Given the description of an element on the screen output the (x, y) to click on. 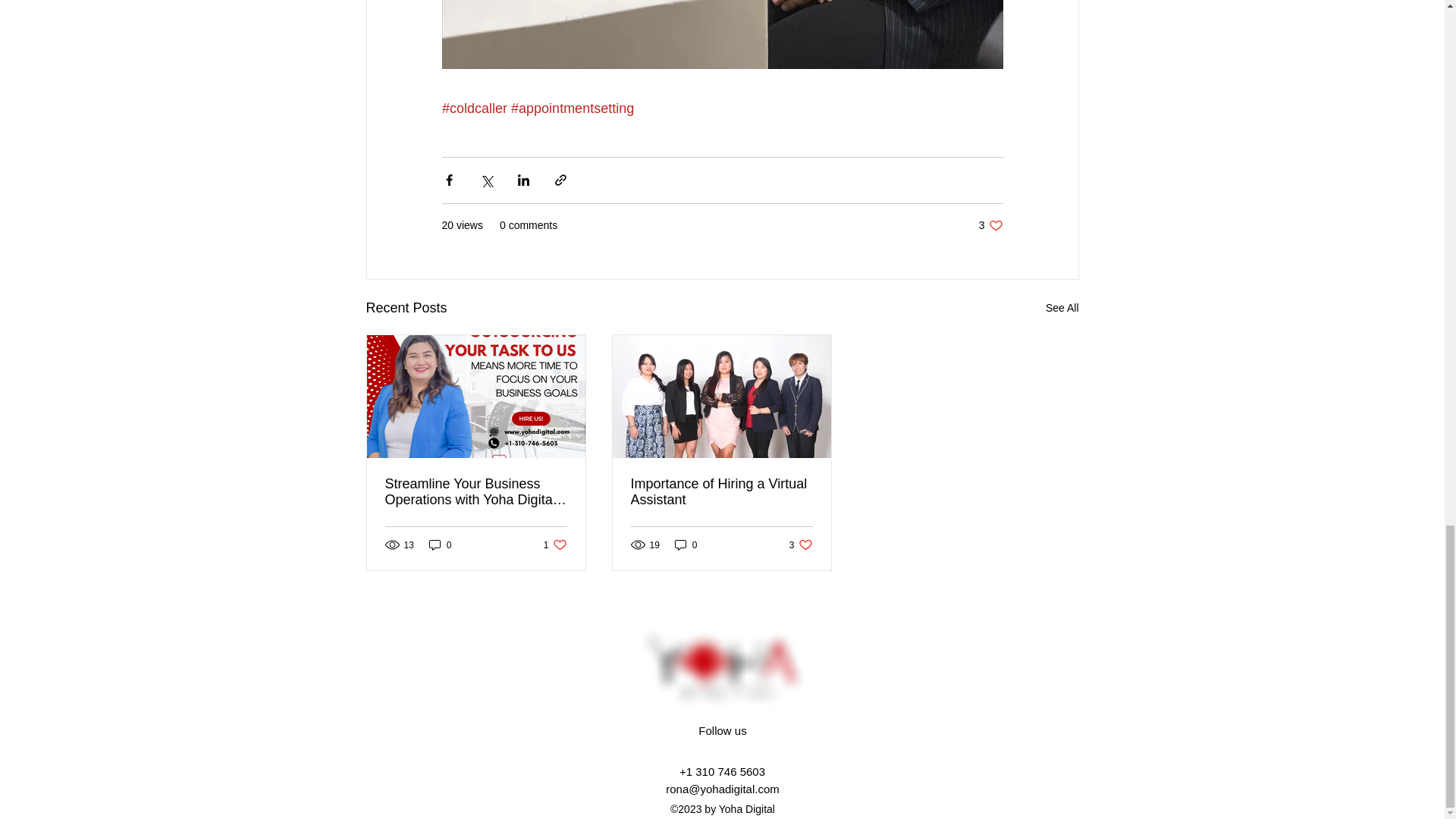
0 (685, 544)
0 (800, 544)
Importance of Hiring a Virtual Assistant (440, 544)
See All (555, 544)
